Given the description of an element on the screen output the (x, y) to click on. 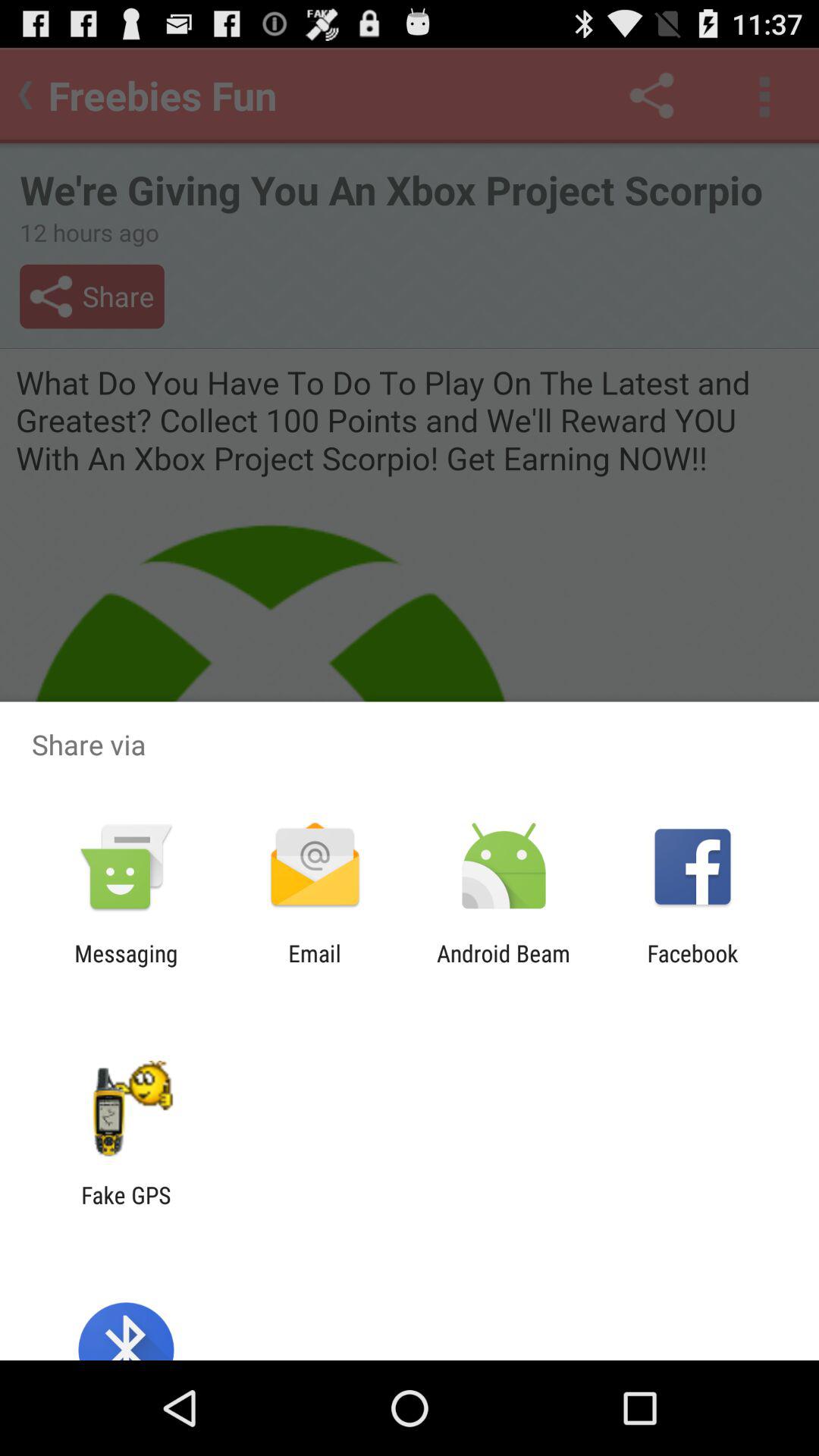
turn on the email item (314, 966)
